Given the description of an element on the screen output the (x, y) to click on. 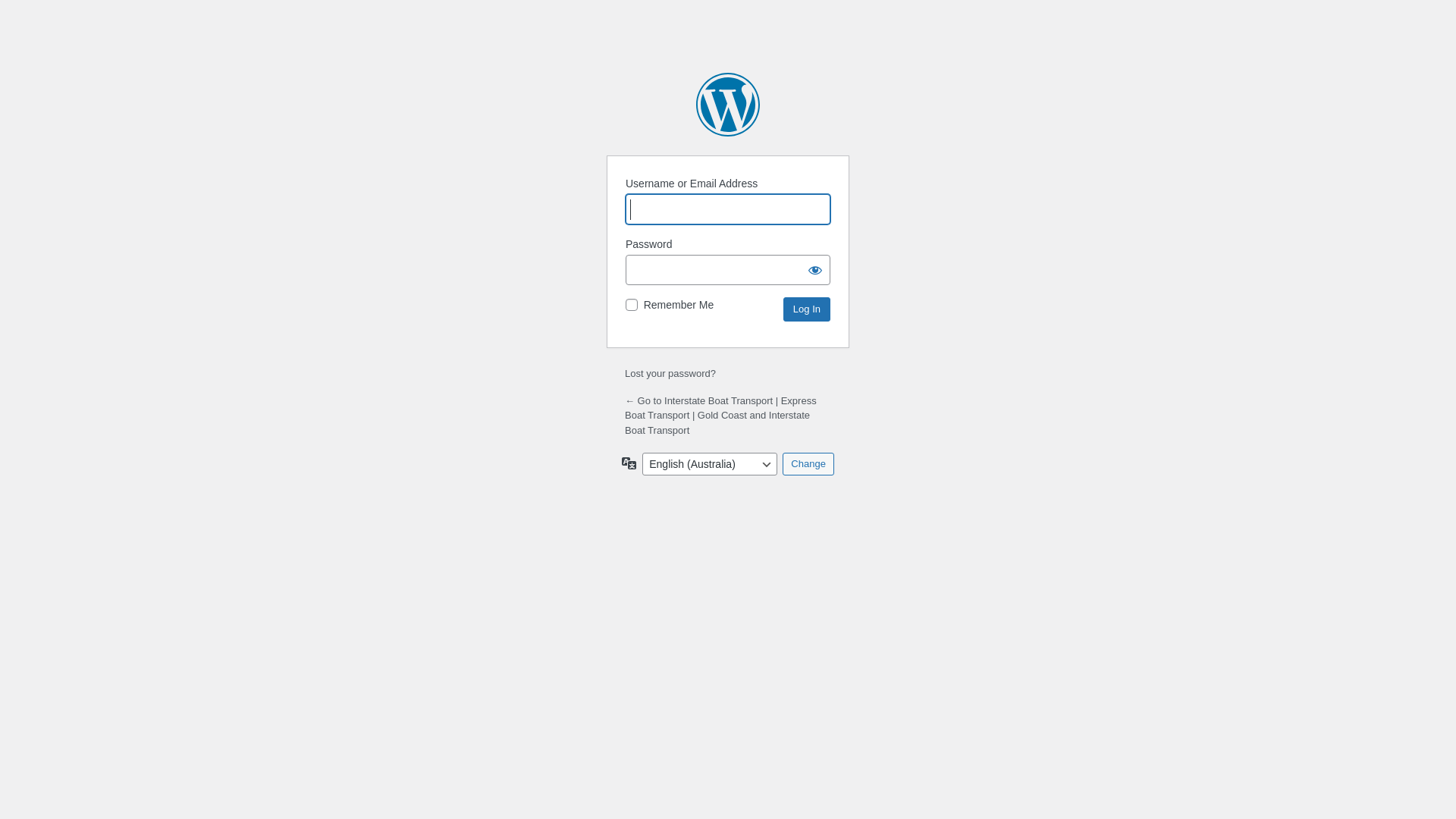
Change Element type: text (808, 463)
Log In Element type: text (806, 309)
Lost your password? Element type: text (669, 373)
Powered by WordPress Element type: text (727, 104)
